Given the description of an element on the screen output the (x, y) to click on. 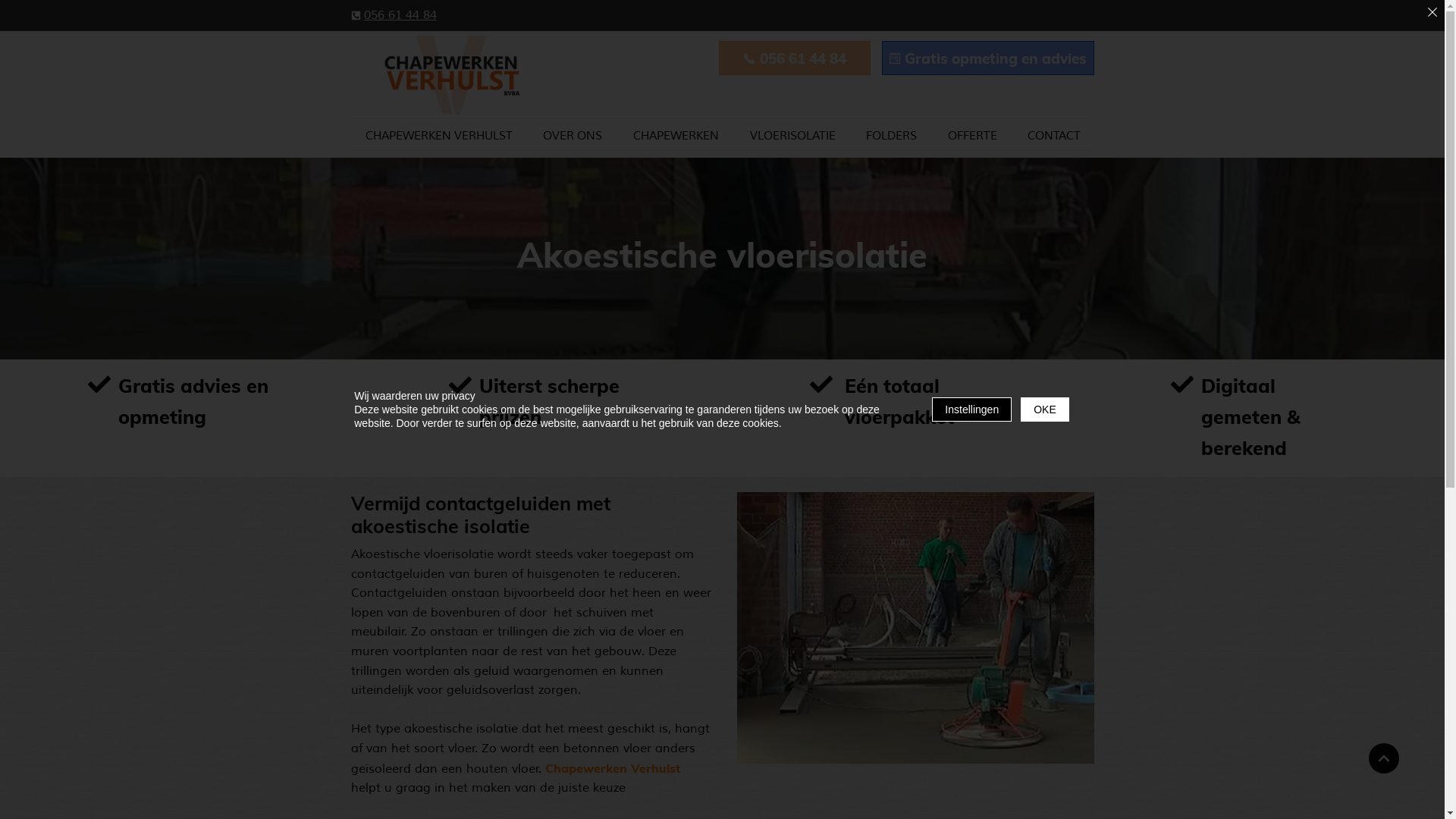
Instellingen Element type: text (971, 409)
VLOERISOLATIE Element type: text (792, 135)
OKE Element type: text (1044, 409)
Gratis opmeting en advies Element type: text (987, 57)
056 61 44 84 Element type: text (404, 15)
CHAPEWERKEN VERHULST Element type: text (438, 135)
OVER ONS Element type: text (572, 135)
CHAPEWERKEN Element type: text (676, 135)
CONTACT Element type: text (1054, 135)
FOLDERS Element type: text (891, 135)
OFFERTE Element type: text (971, 135)
056 61 44 84 Element type: text (794, 57)
Chapewerken Verhulst Element type: text (611, 767)
